Given the description of an element on the screen output the (x, y) to click on. 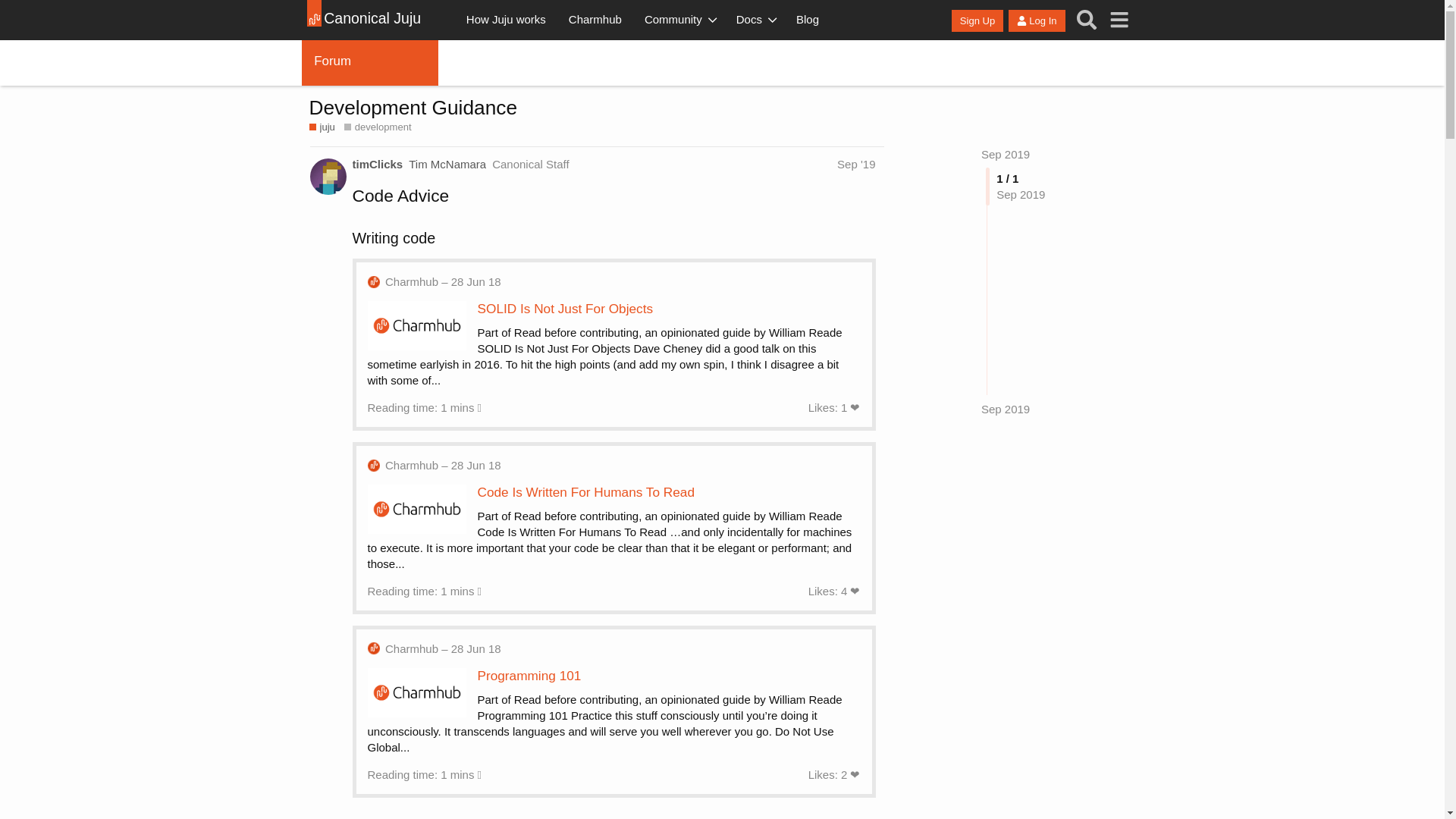
Code Is Written For Humans To Read (585, 491)
How Juju works (505, 20)
Sep '19 (856, 164)
menu (1119, 19)
Post date (856, 164)
01:43AM - 28 June 2018 (442, 281)
Tim McNamara (447, 164)
Charmhub (595, 20)
Canonical Juju (369, 20)
Docs (754, 20)
Sep 2019 (1005, 154)
Sep 2019 (1005, 154)
Search (1086, 19)
Development Guidance (413, 107)
juju (321, 127)
